Given the description of an element on the screen output the (x, y) to click on. 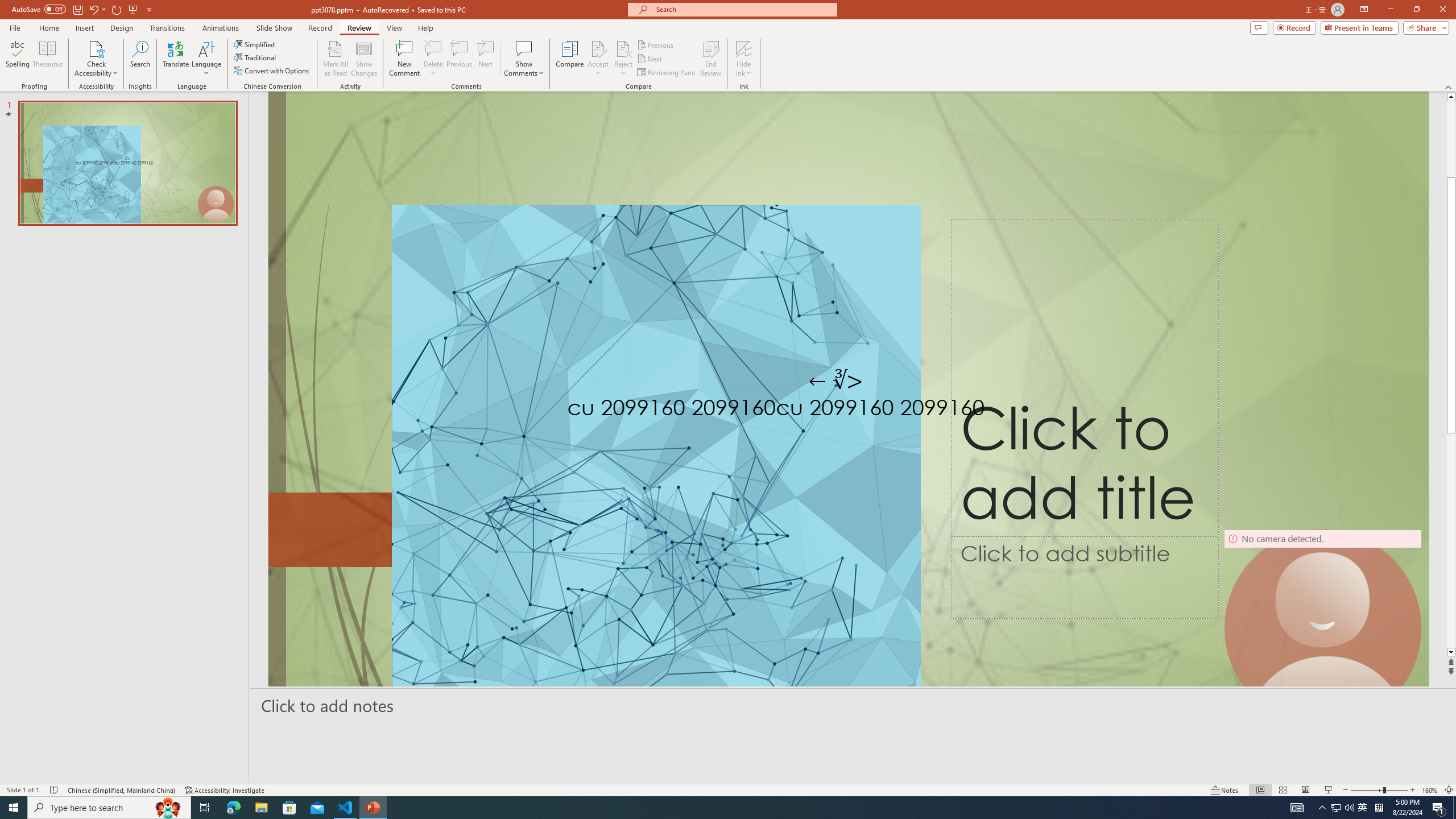
Traditional (255, 56)
Subtitle TextBox (1085, 577)
Notes  (1225, 790)
Simplified (254, 44)
Next (649, 58)
